Given the description of an element on the screen output the (x, y) to click on. 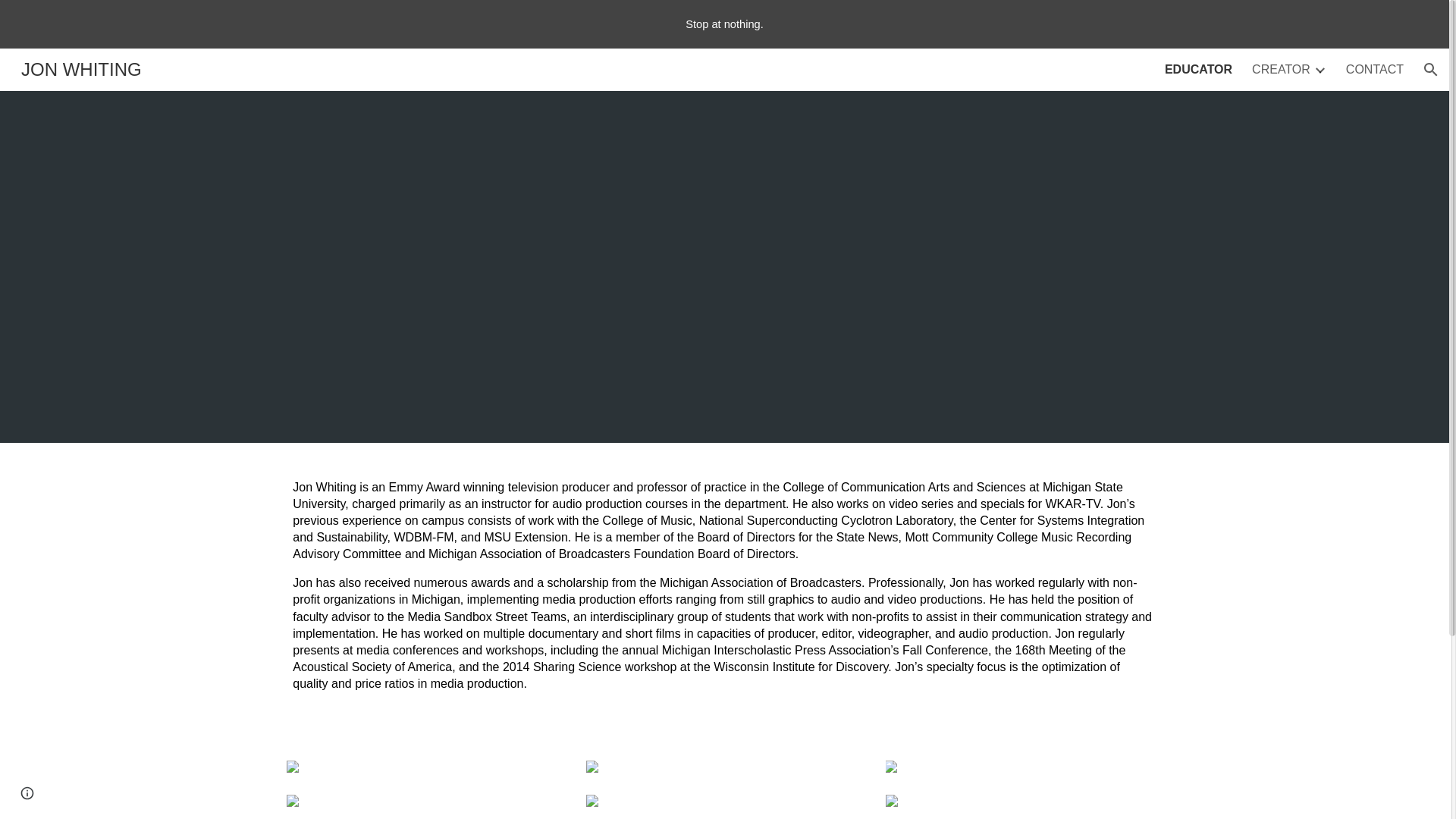
CONTACT (1374, 69)
EDUCATOR (1197, 69)
CREATOR (1281, 69)
JON WHITING (81, 67)
